Given the description of an element on the screen output the (x, y) to click on. 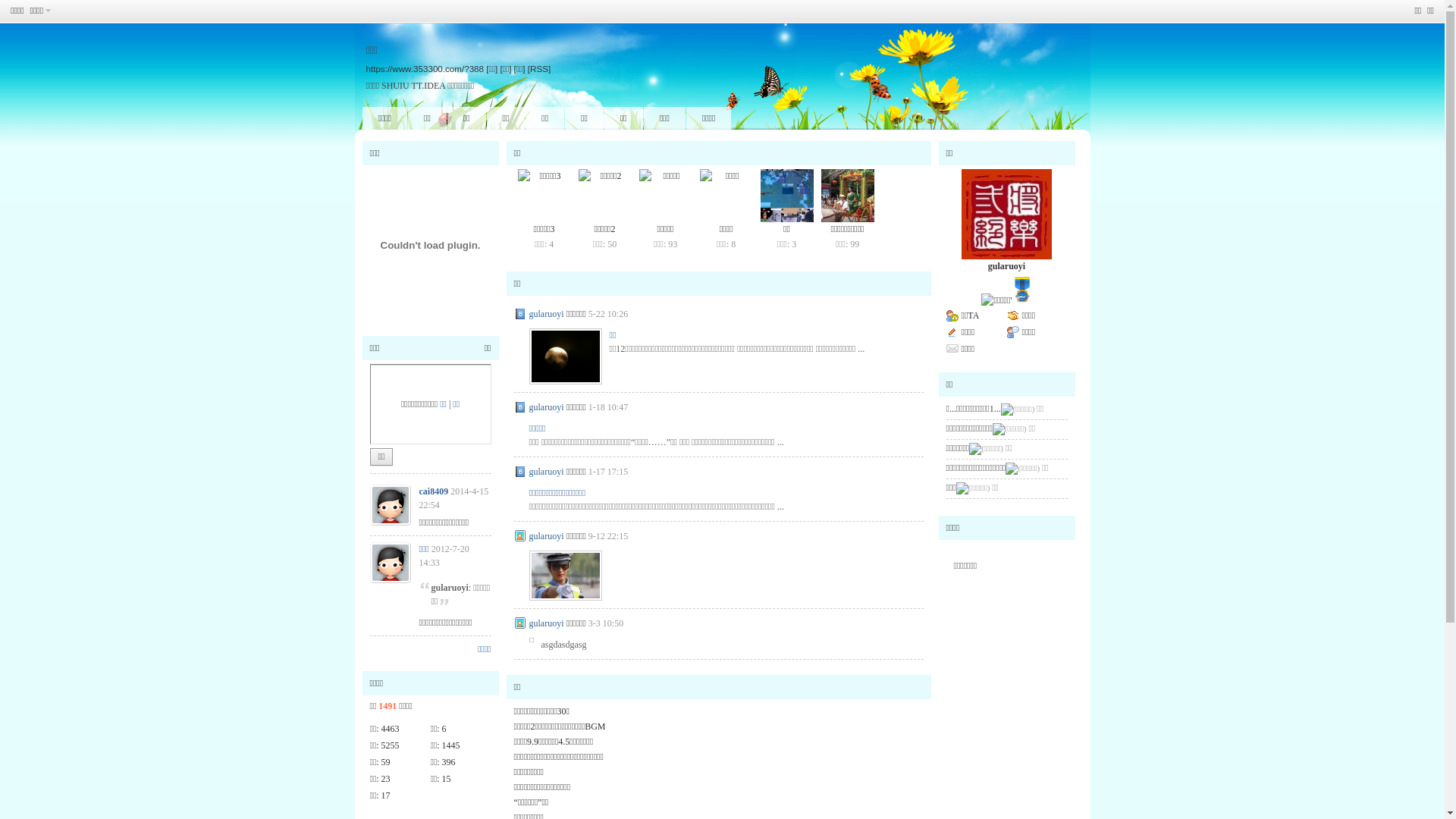
gularuoyi Element type: text (546, 535)
[RSS] Element type: text (538, 68)
   Element type: text (1006, 299)
6 Element type: text (444, 728)
https://www.353300.com/?388 Element type: text (424, 68)
17 Element type: text (385, 795)
cai8409 Element type: text (433, 491)
gularuoyi Element type: text (546, 470)
4463 Element type: text (390, 728)
23 Element type: text (385, 778)
gularuoyi Element type: text (546, 406)
gularuoyi Element type: text (546, 623)
5255 Element type: text (390, 745)
gularuoyi Element type: text (1006, 265)
396 Element type: text (448, 761)
1445 Element type: text (451, 745)
15 Element type: text (446, 778)
gularuoyi Element type: text (546, 313)
59 Element type: text (385, 761)
